Given the description of an element on the screen output the (x, y) to click on. 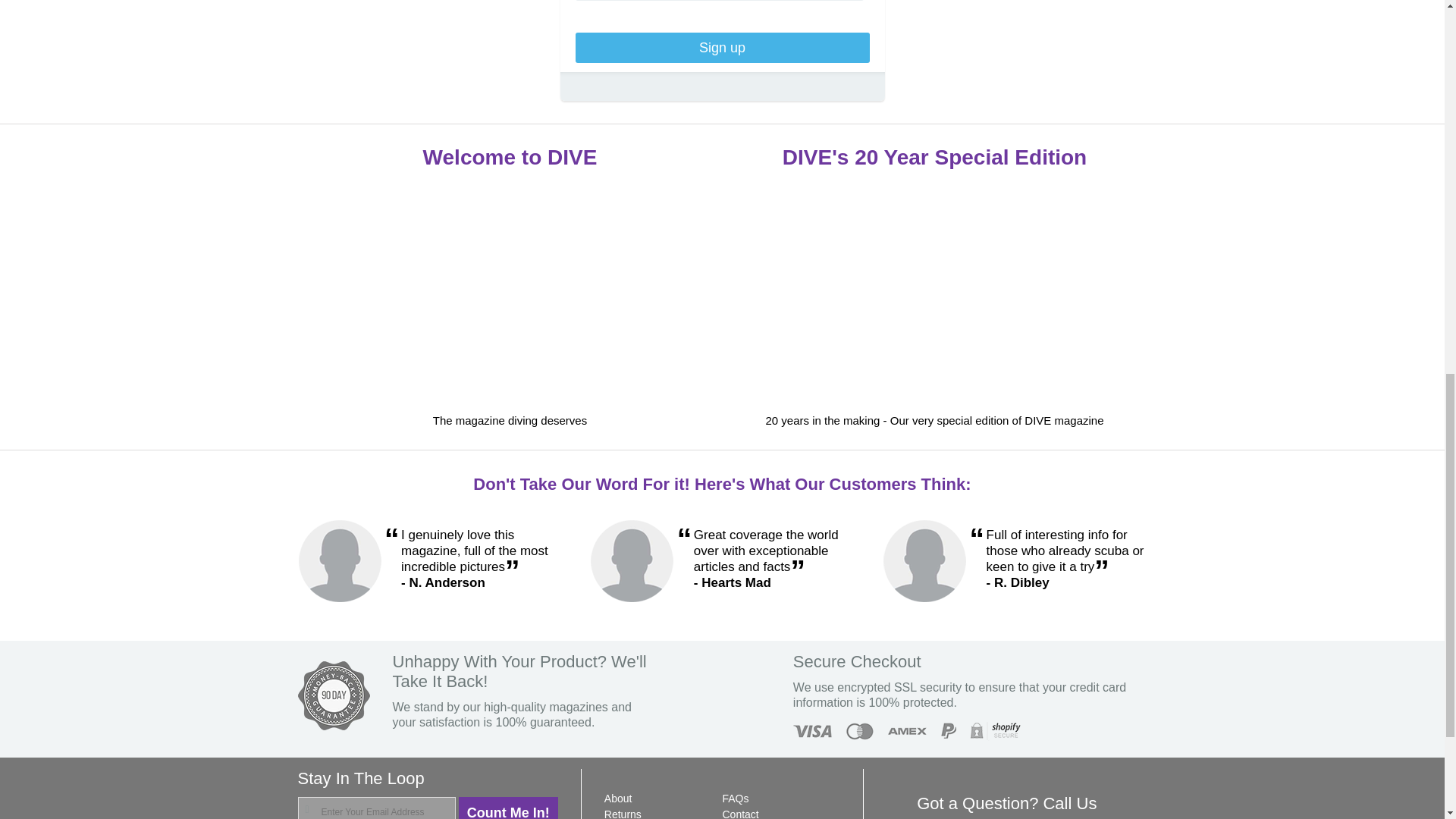
Sign up (722, 47)
Hearts Mad (630, 560)
YouTube video player (509, 292)
Count Me In! (507, 807)
About (617, 798)
Sign up (722, 47)
N. Anderson (338, 560)
R. Dibley (924, 560)
Count Me In! (507, 807)
